Given the description of an element on the screen output the (x, y) to click on. 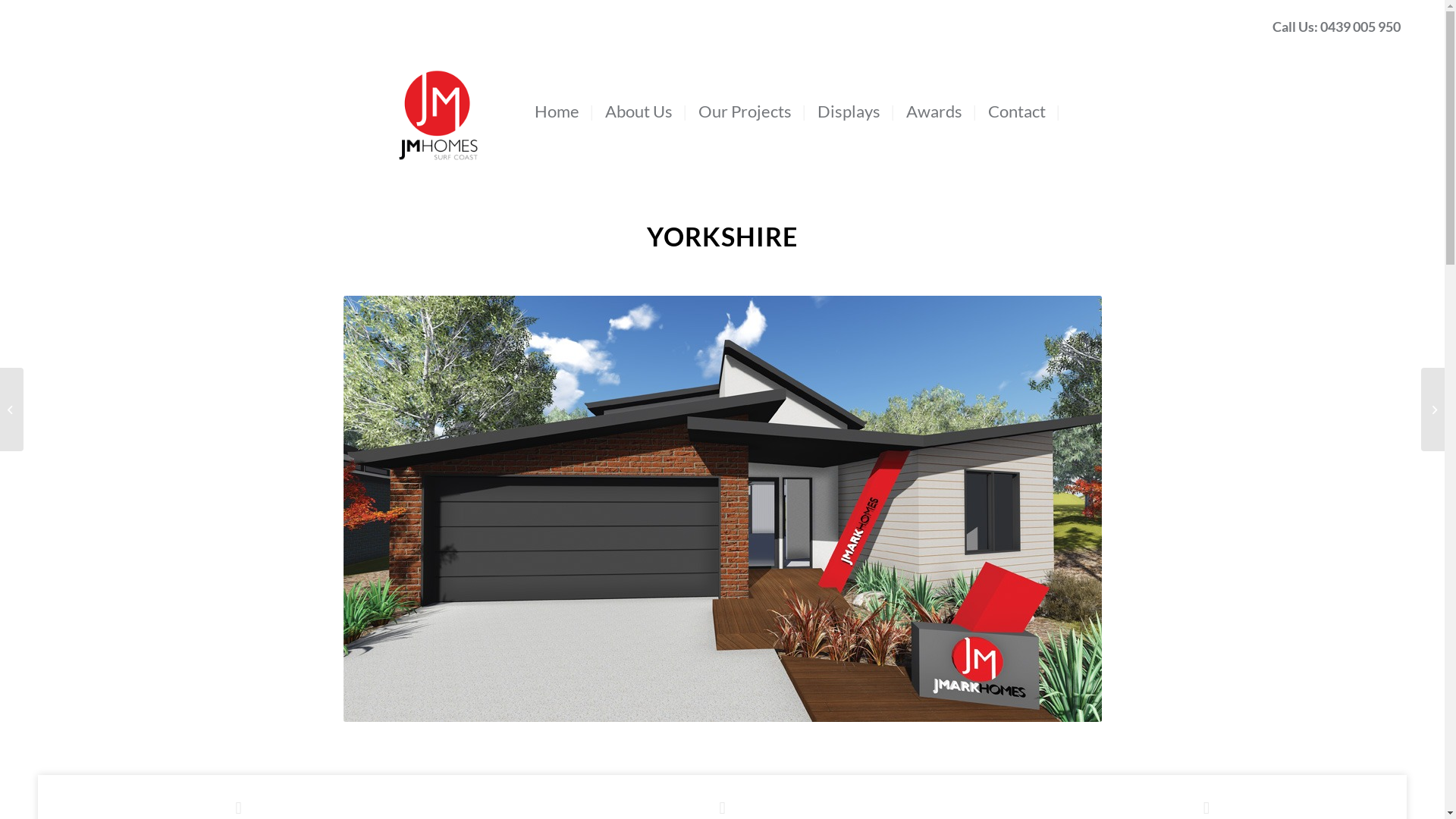
About Us Element type: text (640, 111)
Our Projects Element type: text (746, 111)
0439 005 950 Element type: text (1360, 26)
Awards Element type: text (936, 111)
menulogo Element type: hover (437, 88)
Displays Element type: text (850, 111)
Contact Element type: text (1018, 111)
Home Element type: text (559, 111)
